Given the description of an element on the screen output the (x, y) to click on. 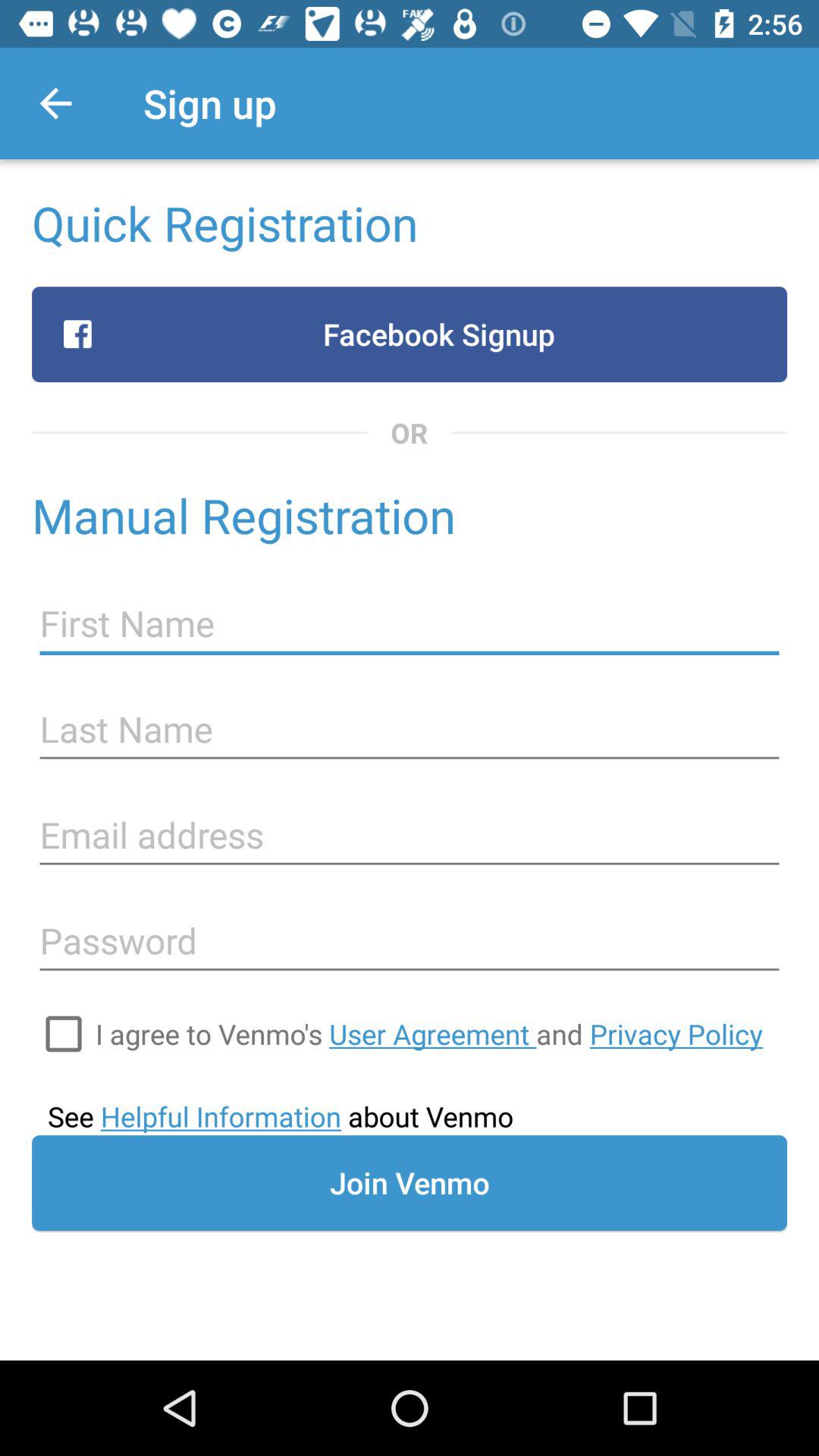
press the icon below the manual registration icon (409, 623)
